Given the description of an element on the screen output the (x, y) to click on. 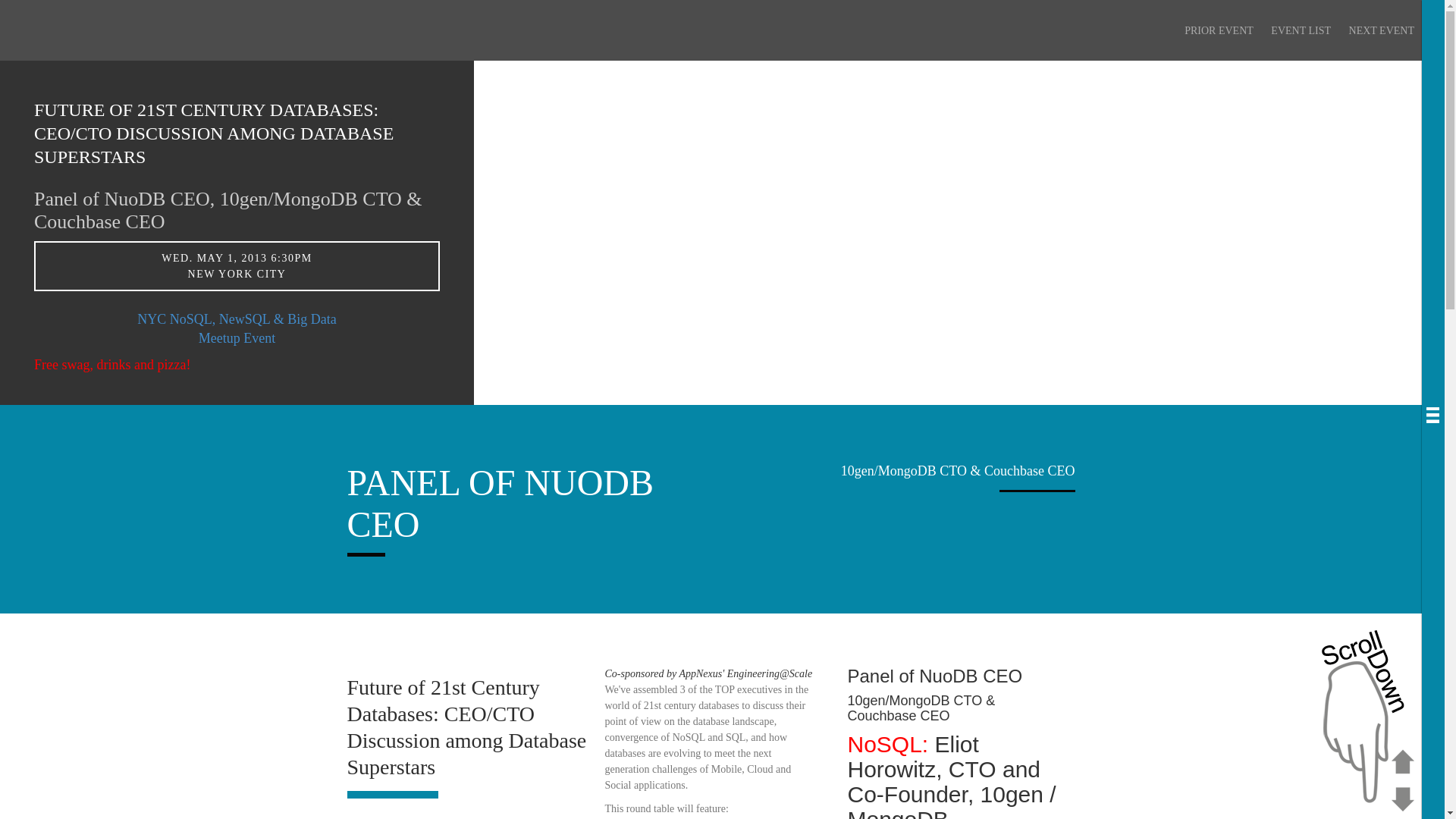
NEXT EVENT (1381, 30)
EVENT LIST (1300, 30)
PRIOR EVENT (1219, 30)
Prior Event (1219, 30)
Next Event (1381, 30)
